Given the description of an element on the screen output the (x, y) to click on. 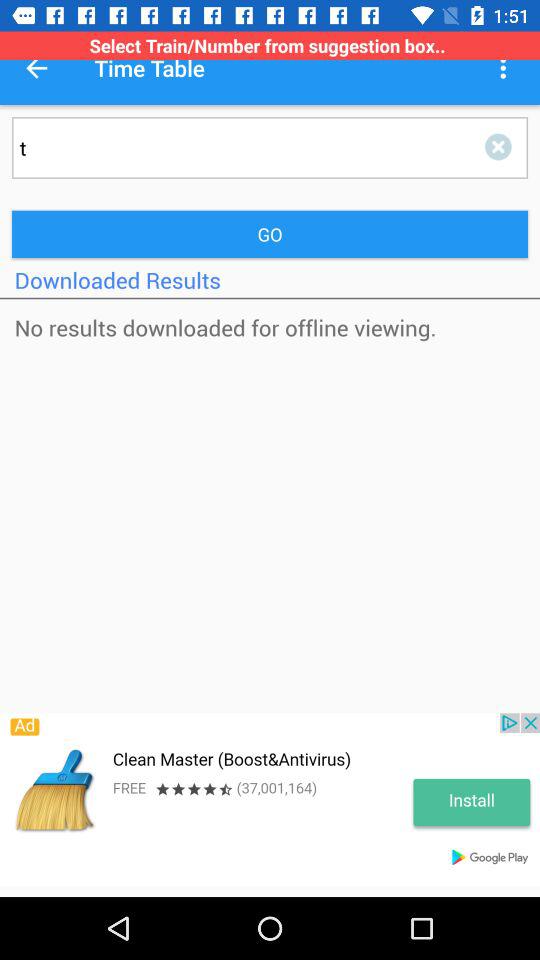
advertisement page (270, 799)
